Given the description of an element on the screen output the (x, y) to click on. 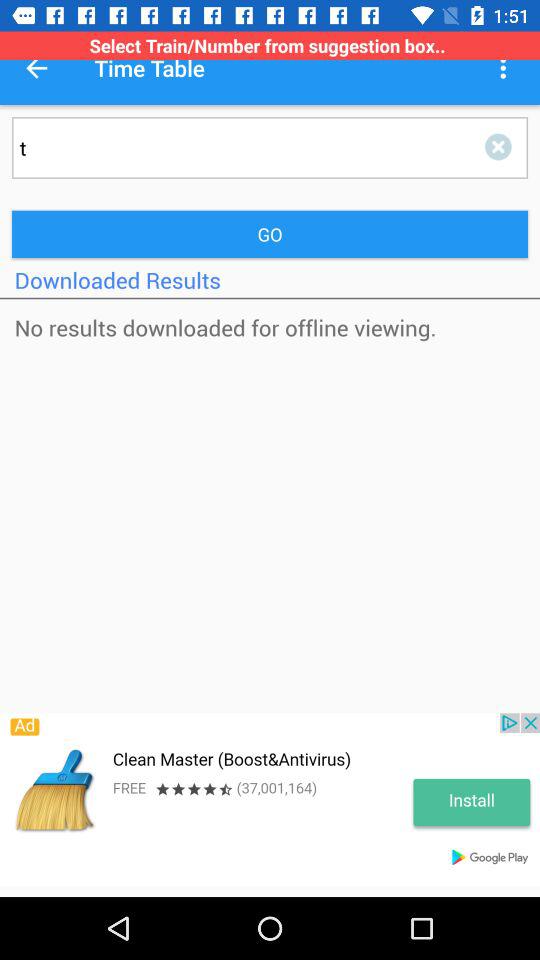
advertisement page (270, 799)
